Given the description of an element on the screen output the (x, y) to click on. 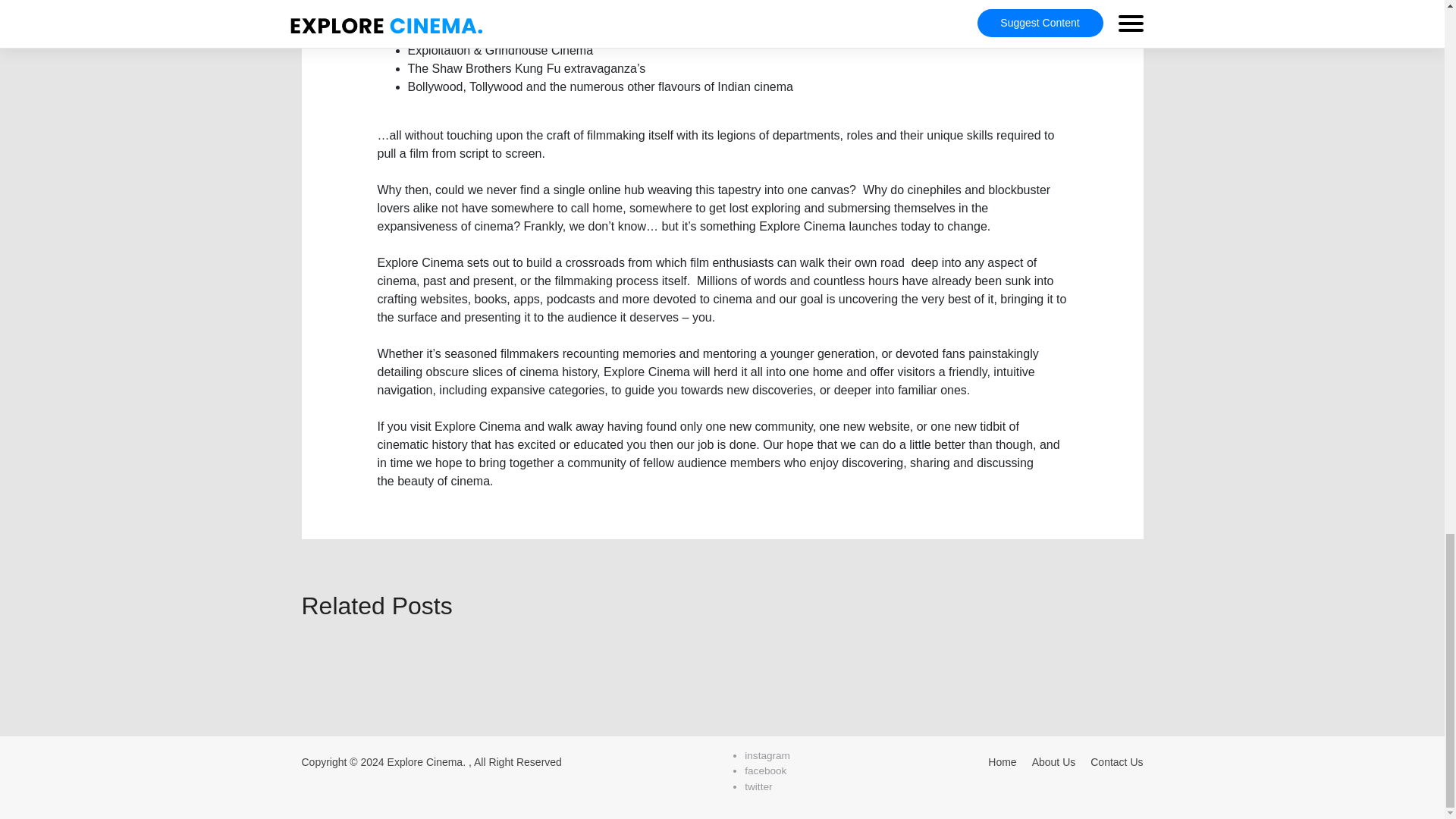
facebook (765, 770)
About Us (1053, 761)
Home (1002, 761)
Explore Cinema. (426, 761)
instagram (767, 755)
twitter (757, 786)
Contact Us (1116, 761)
